Given the description of an element on the screen output the (x, y) to click on. 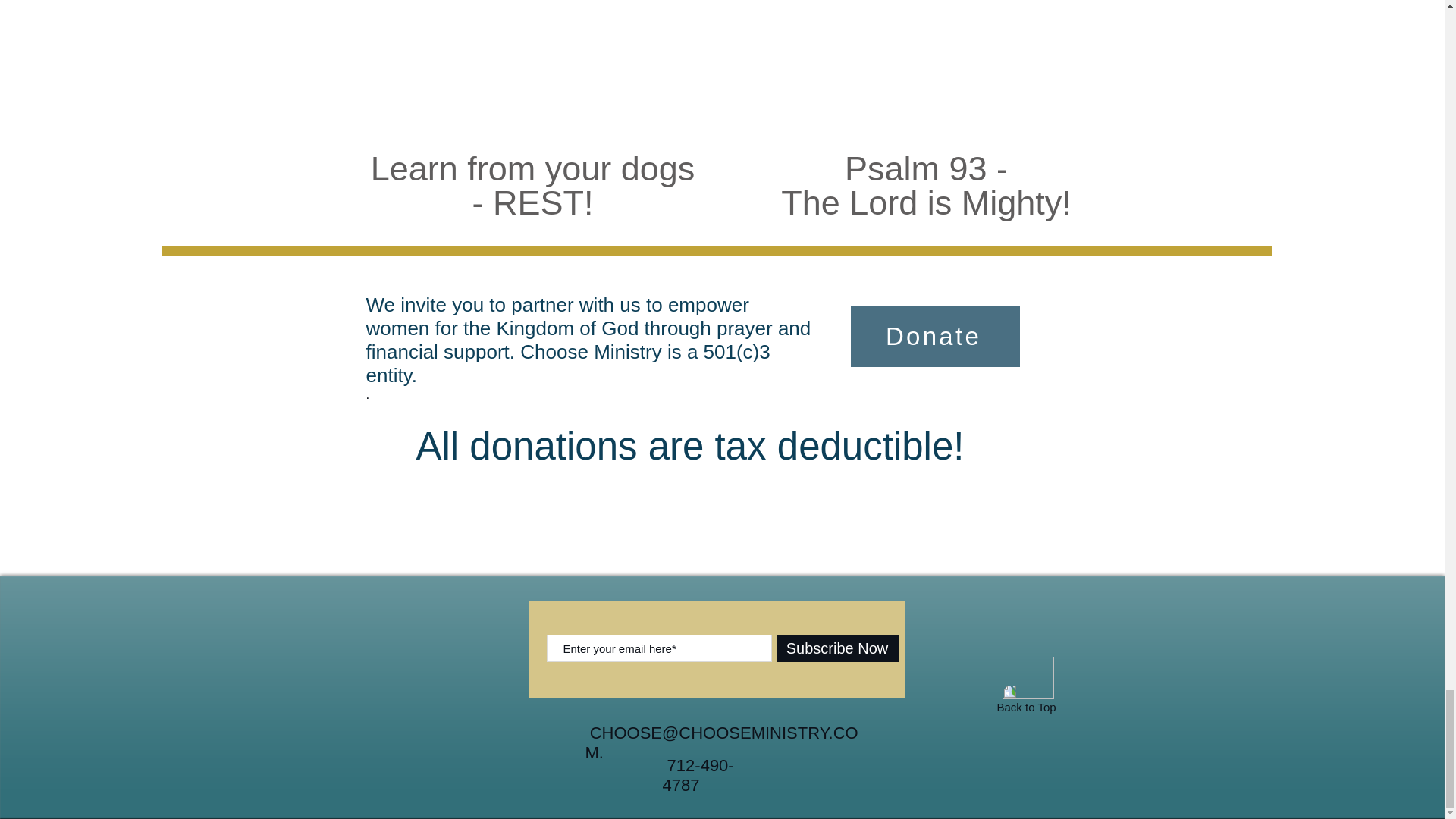
Donate (935, 335)
Back to Top (1025, 707)
Subscribe Now (837, 647)
